Given the description of an element on the screen output the (x, y) to click on. 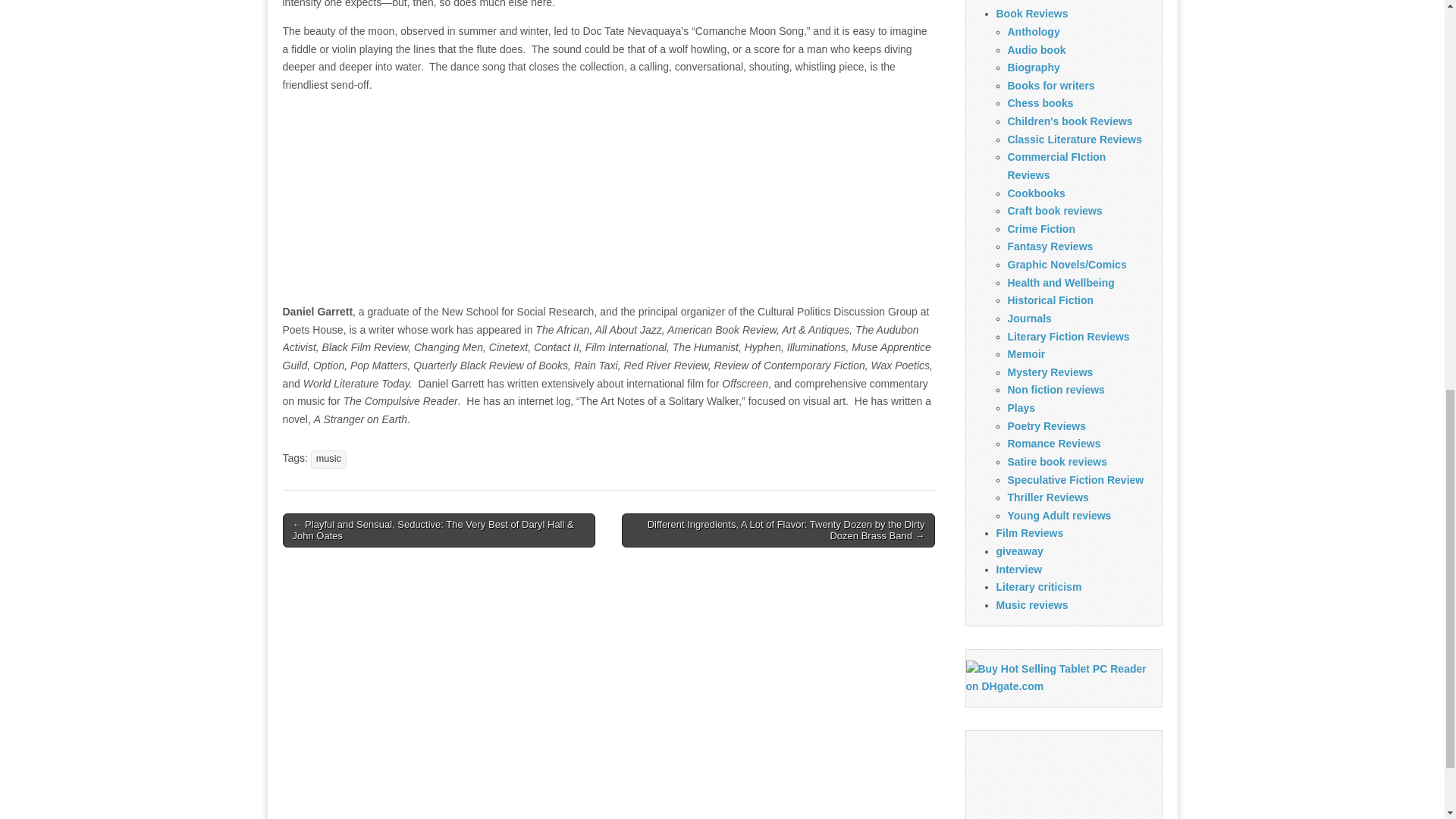
Classic Literature Reviews (1074, 139)
Journals (1029, 318)
Biography (1033, 67)
Craft book reviews (1054, 210)
music (328, 458)
Audio book (1036, 50)
Commercial FIction Reviews (1056, 165)
Historical Fiction (1050, 300)
Crime Fiction (1040, 228)
Children's book Reviews (1069, 121)
Cookbooks (1035, 193)
Health and Wellbeing (1060, 282)
Fantasy Reviews (1050, 246)
Chess books (1040, 102)
